Given the description of an element on the screen output the (x, y) to click on. 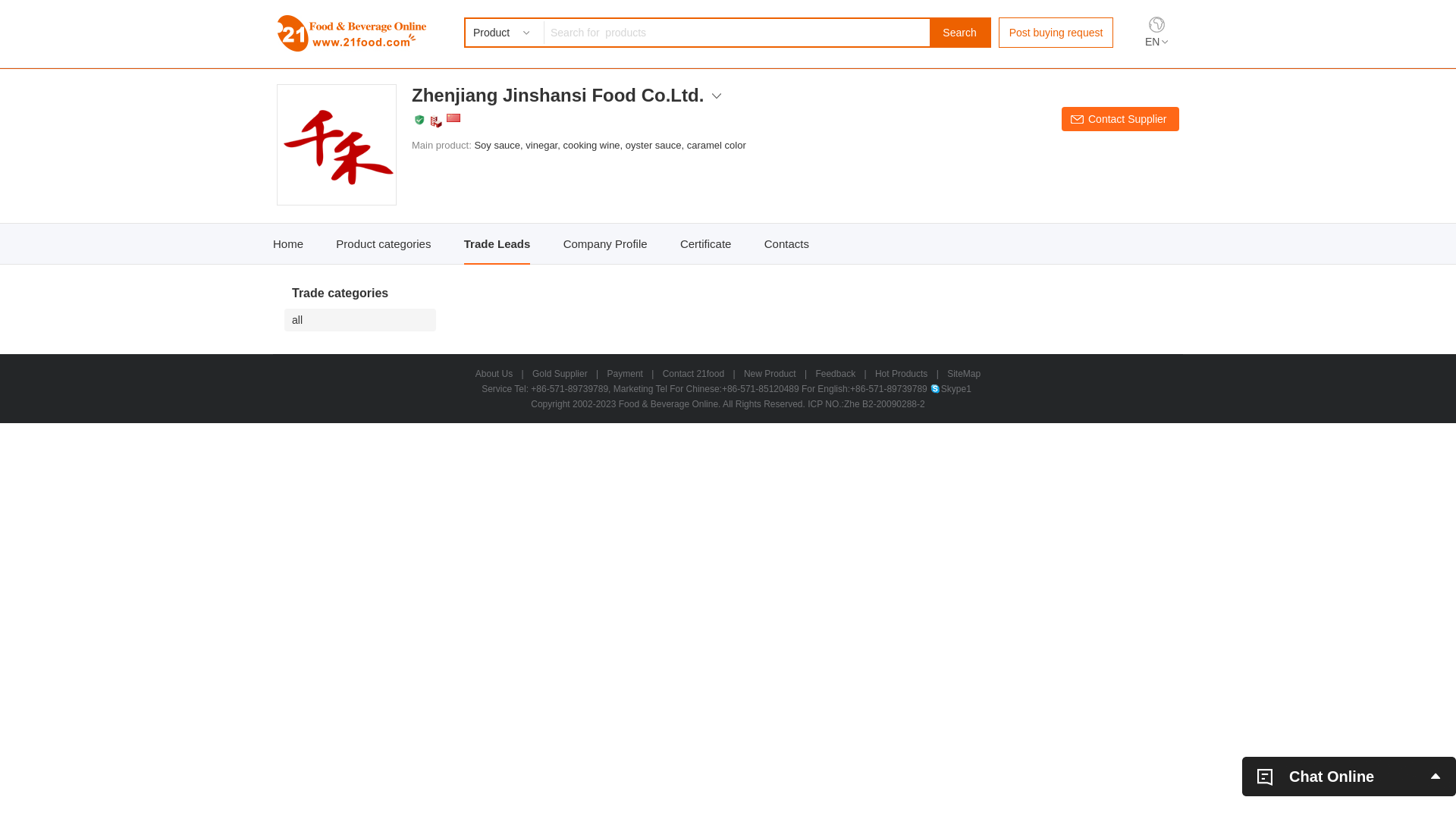
Skype1 Element type: text (950, 388)
Contact Supplier Element type: text (1120, 118)
all Element type: text (363, 319)
Gold Supplier Element type: text (559, 373)
EN Element type: text (1156, 41)
Post buying request Element type: text (1055, 32)
Payment Element type: text (625, 373)
Trade Leads Element type: text (497, 244)
Company Profile Element type: text (605, 243)
Hot Products Element type: text (901, 373)
Contact 21food Element type: text (693, 373)
SiteMap Element type: text (963, 373)
New Product Element type: text (769, 373)
China Element type: hover (453, 117)
About Us Element type: text (493, 373)
Certificate Element type: text (705, 243)
Contacts Element type: text (786, 243)
Search Element type: text (959, 32)
Product categories Element type: text (382, 243)
Manufacture Element type: hover (435, 120)
Home Element type: text (288, 243)
Feedback Element type: text (835, 373)
